Given the description of an element on the screen output the (x, y) to click on. 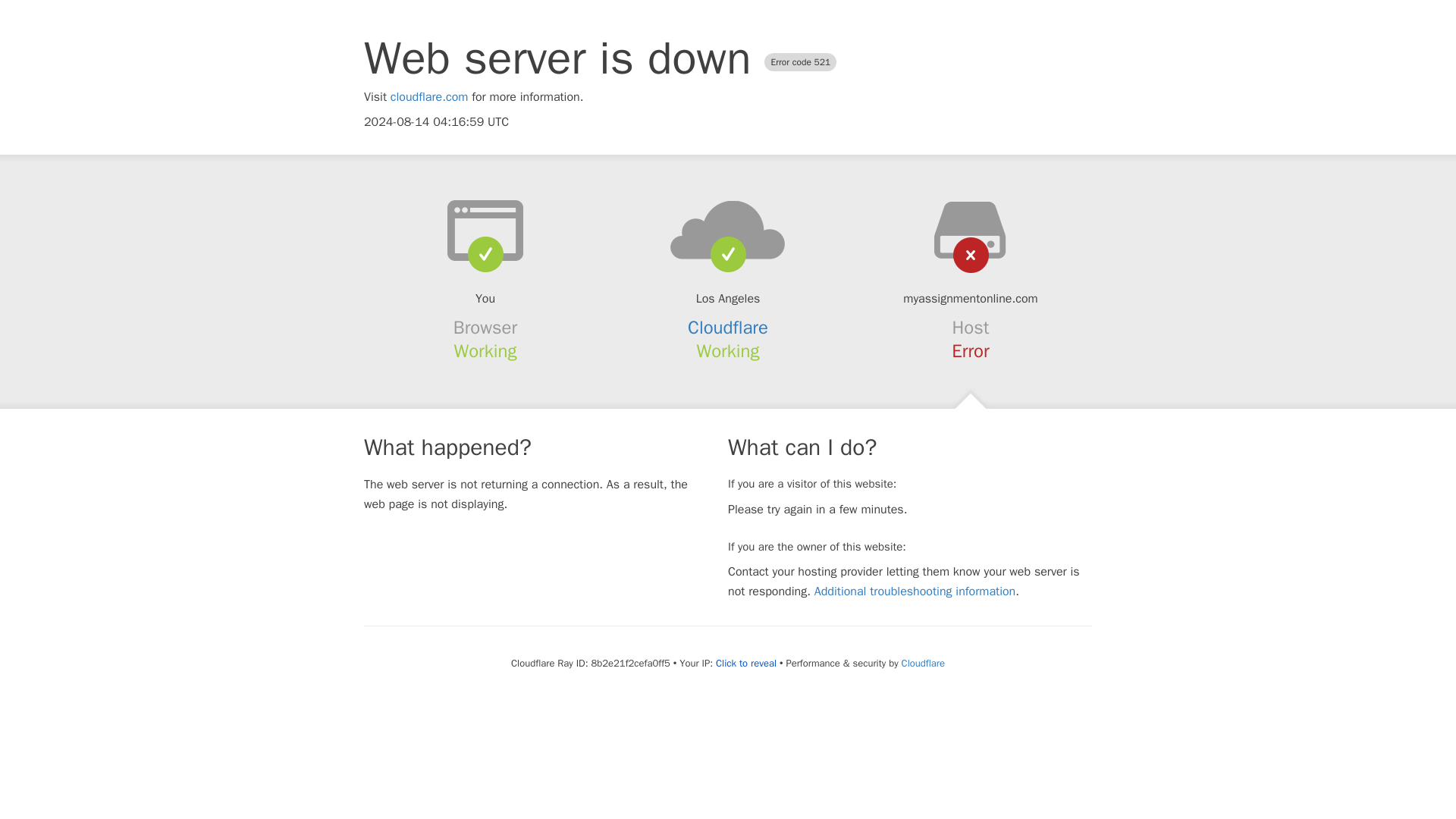
Additional troubleshooting information (913, 590)
Cloudflare (727, 327)
Click to reveal (746, 663)
cloudflare.com (429, 96)
Cloudflare (922, 662)
